Given the description of an element on the screen output the (x, y) to click on. 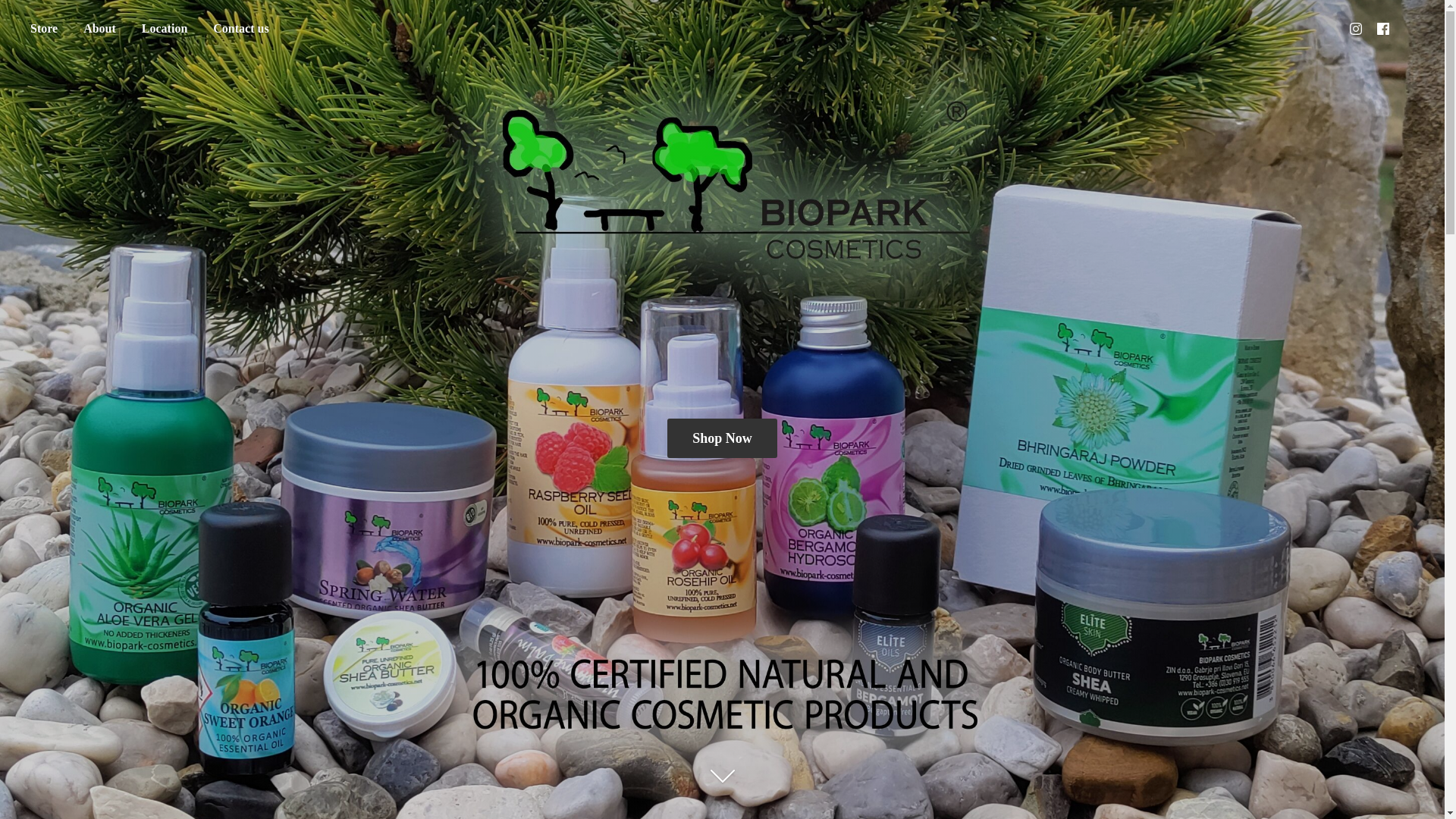
Contact us (240, 29)
Store (43, 29)
Location (164, 29)
Shop Now (721, 437)
About (99, 29)
